Given the description of an element on the screen output the (x, y) to click on. 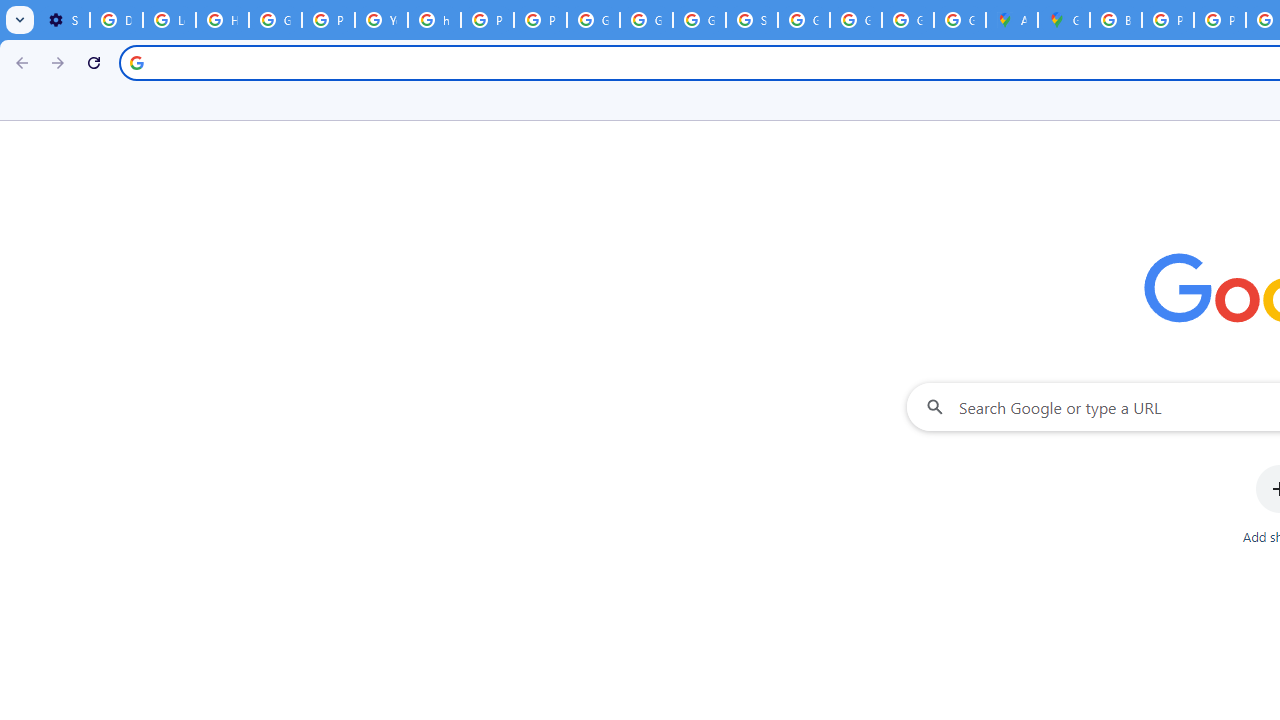
Privacy Help Center - Policies Help (487, 20)
YouTube (381, 20)
Blogger Policies and Guidelines - Transparency Center (1115, 20)
Privacy Help Center - Policies Help (1167, 20)
Sign in - Google Accounts (751, 20)
Delete photos & videos - Computer - Google Photos Help (116, 20)
